Given the description of an element on the screen output the (x, y) to click on. 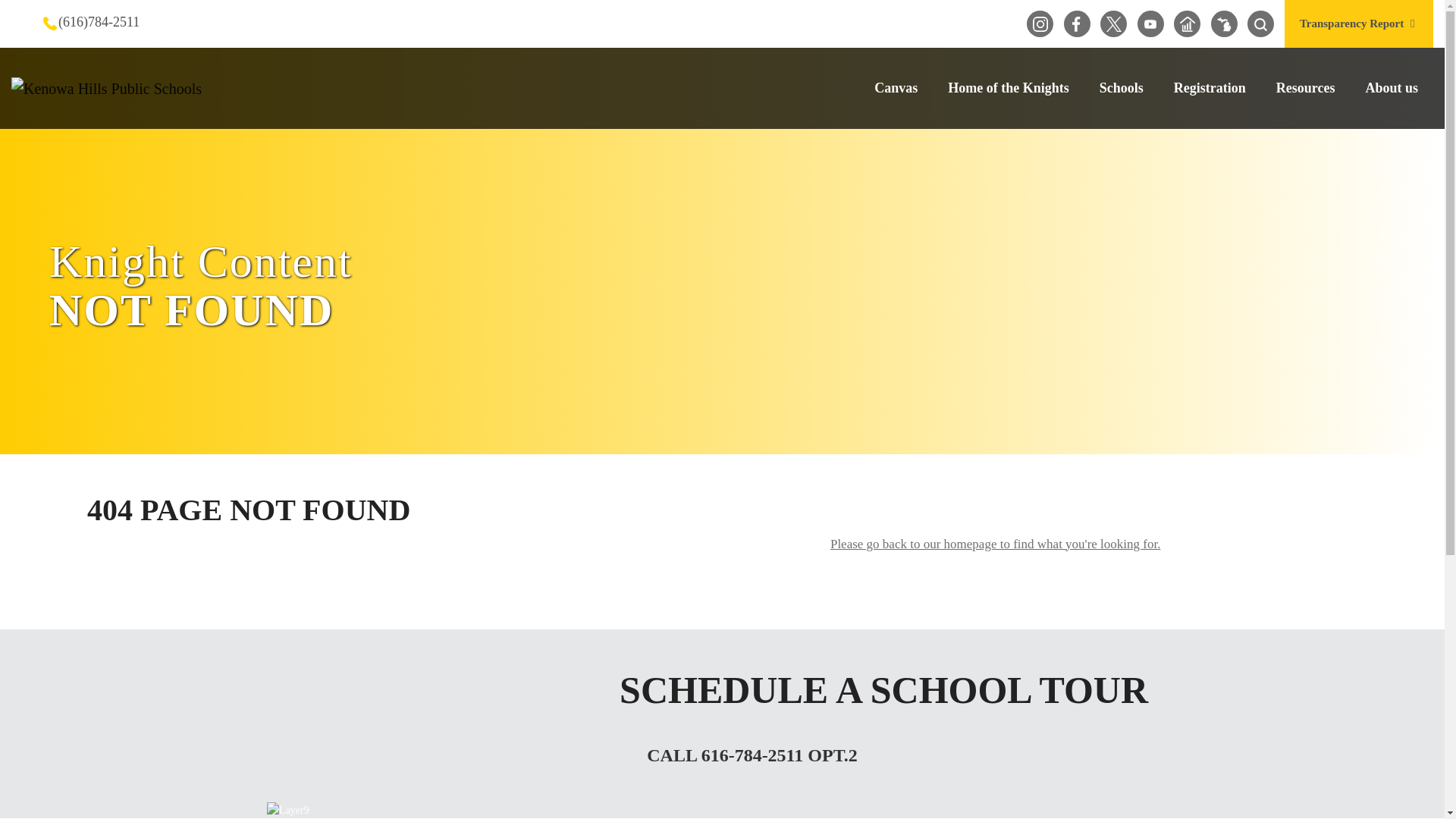
Home of the Knights (1008, 87)
Canvas (896, 87)
Schools (1121, 87)
